Given the description of an element on the screen output the (x, y) to click on. 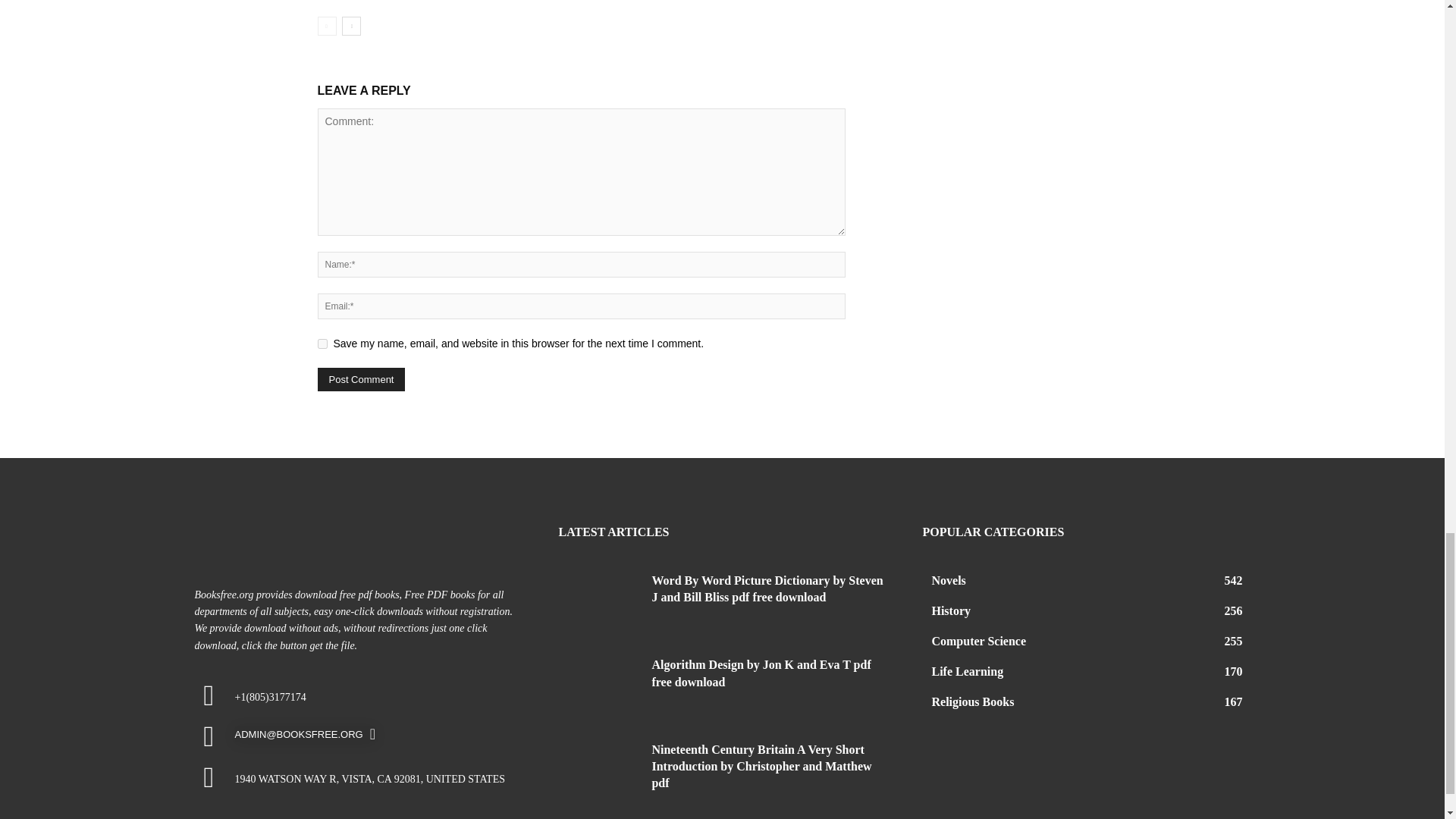
Post Comment (360, 379)
yes (321, 343)
